Given the description of an element on the screen output the (x, y) to click on. 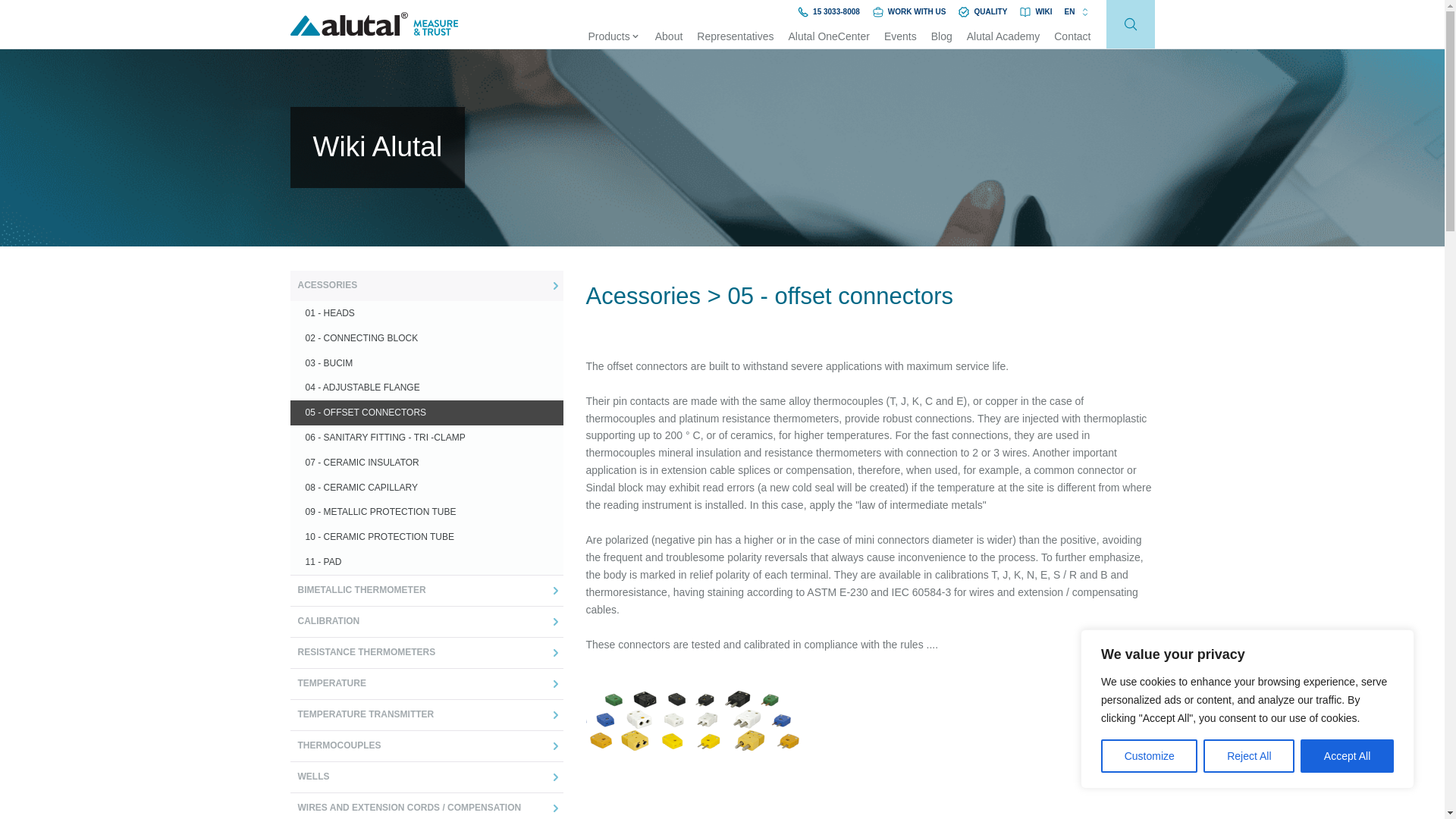
Accept All (1346, 756)
EN (1077, 11)
Customize (1148, 756)
WIKI (1035, 11)
WORK WITH US (909, 11)
QUALITY (982, 11)
Reject All (1249, 756)
15 3033-8008 (828, 11)
